Given the description of an element on the screen output the (x, y) to click on. 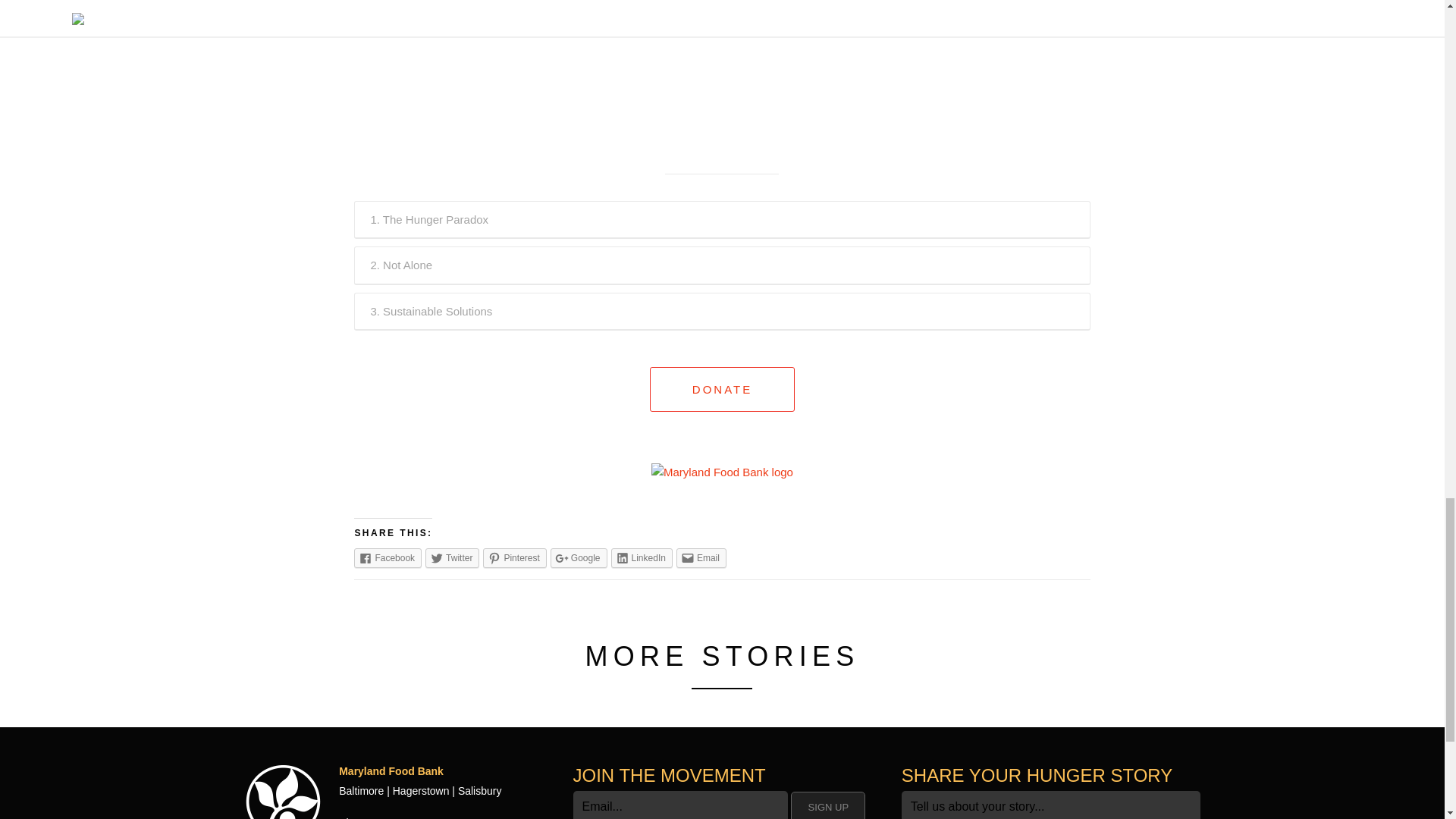
Hagerstown (421, 790)
2. Not Alone (722, 265)
Baltimore (361, 790)
Sign Up (827, 805)
Click to share on Pinterest (514, 557)
Email (701, 557)
Google (578, 557)
1. The Hunger Paradox (722, 219)
3. Sustainable Solutions (722, 311)
Click to share on LinkedIn (641, 557)
